Given the description of an element on the screen output the (x, y) to click on. 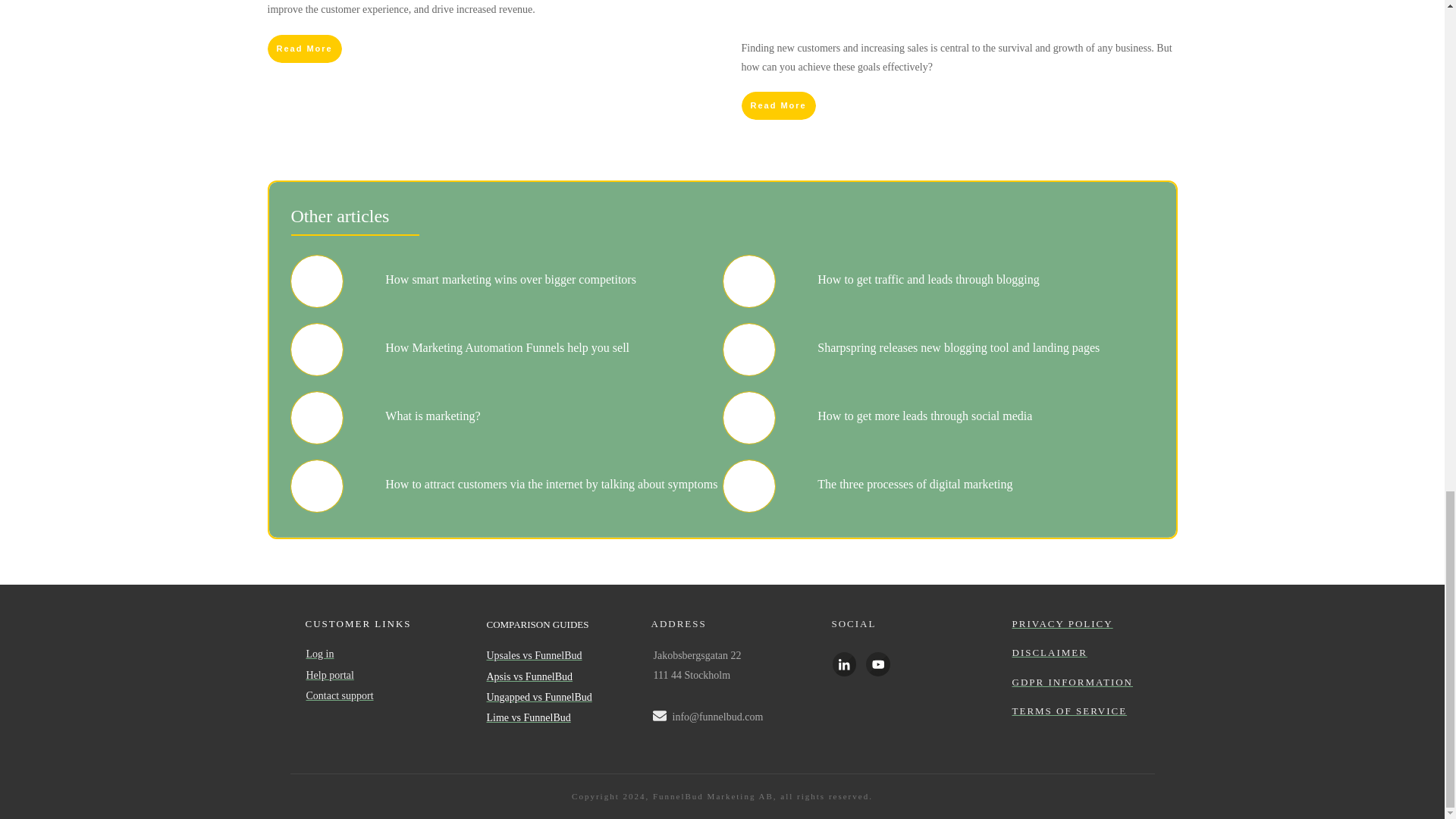
Read More (303, 49)
